Given the description of an element on the screen output the (x, y) to click on. 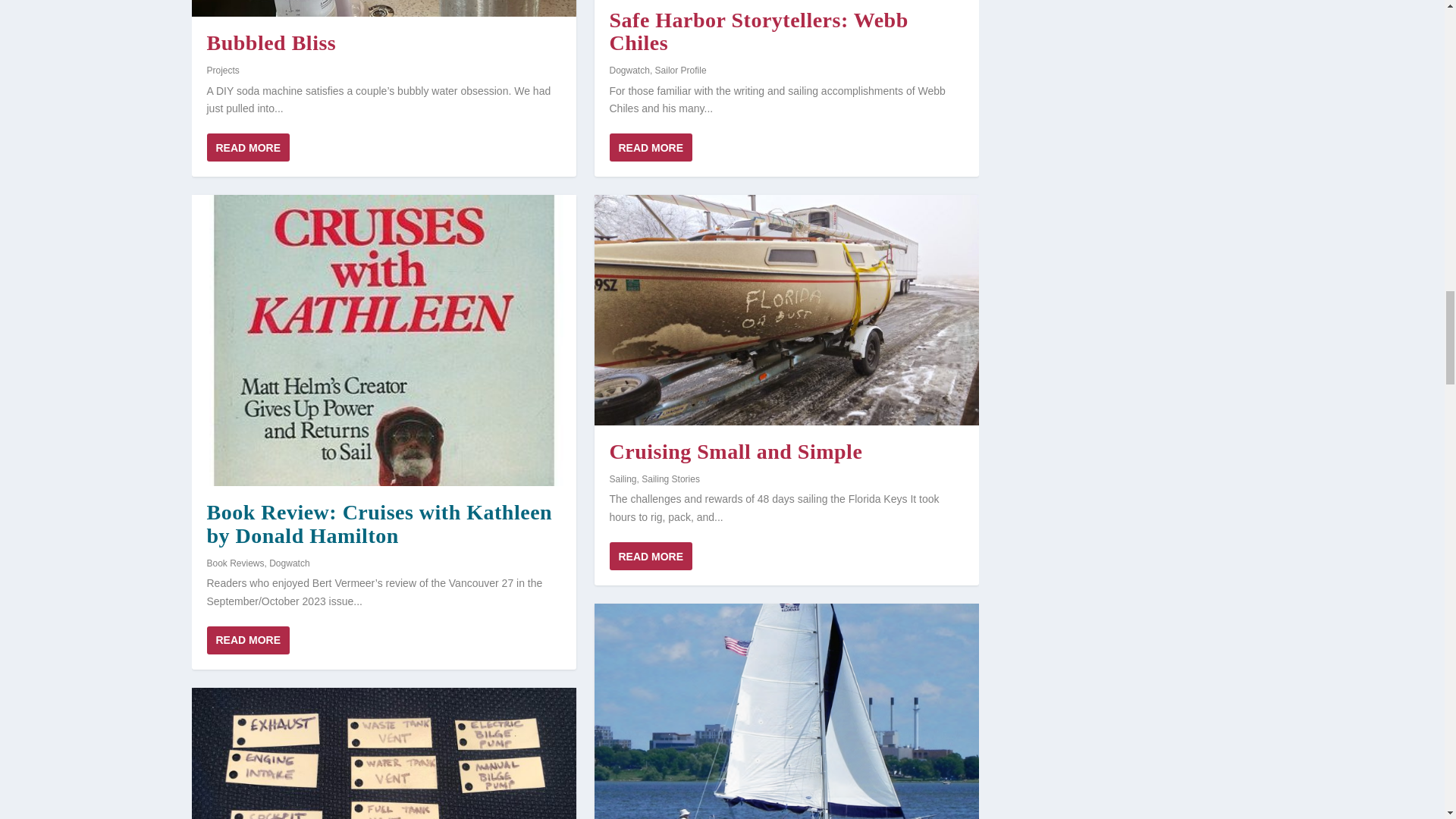
Simple Solutions: What are all these hoses for? (382, 753)
Bubbled Bliss (382, 8)
Book Review: Cruises with Kathleen by Donald Hamilton (382, 340)
